Given the description of an element on the screen output the (x, y) to click on. 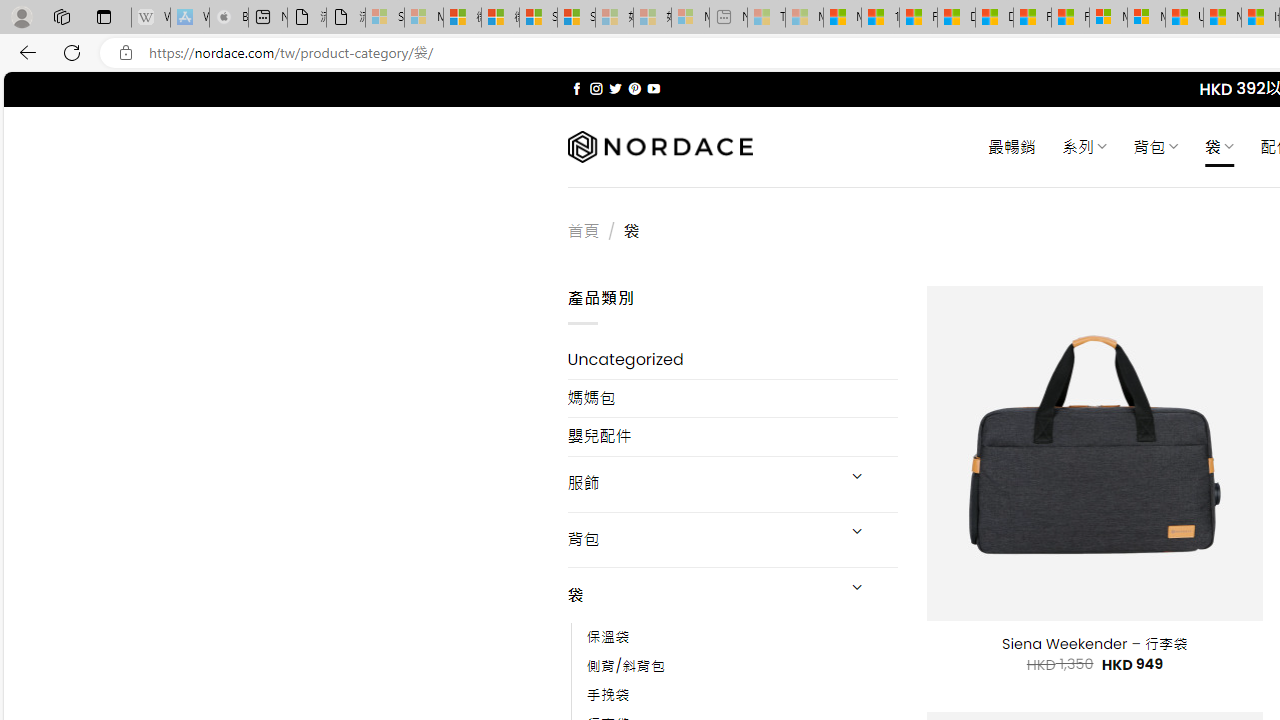
Uncategorized (732, 359)
Follow on YouTube (653, 88)
Sign in to your Microsoft account - Sleeping (385, 17)
US Heat Deaths Soared To Record High Last Year (1184, 17)
Follow on Twitter (615, 88)
Microsoft Services Agreement - Sleeping (423, 17)
